Given the description of an element on the screen output the (x, y) to click on. 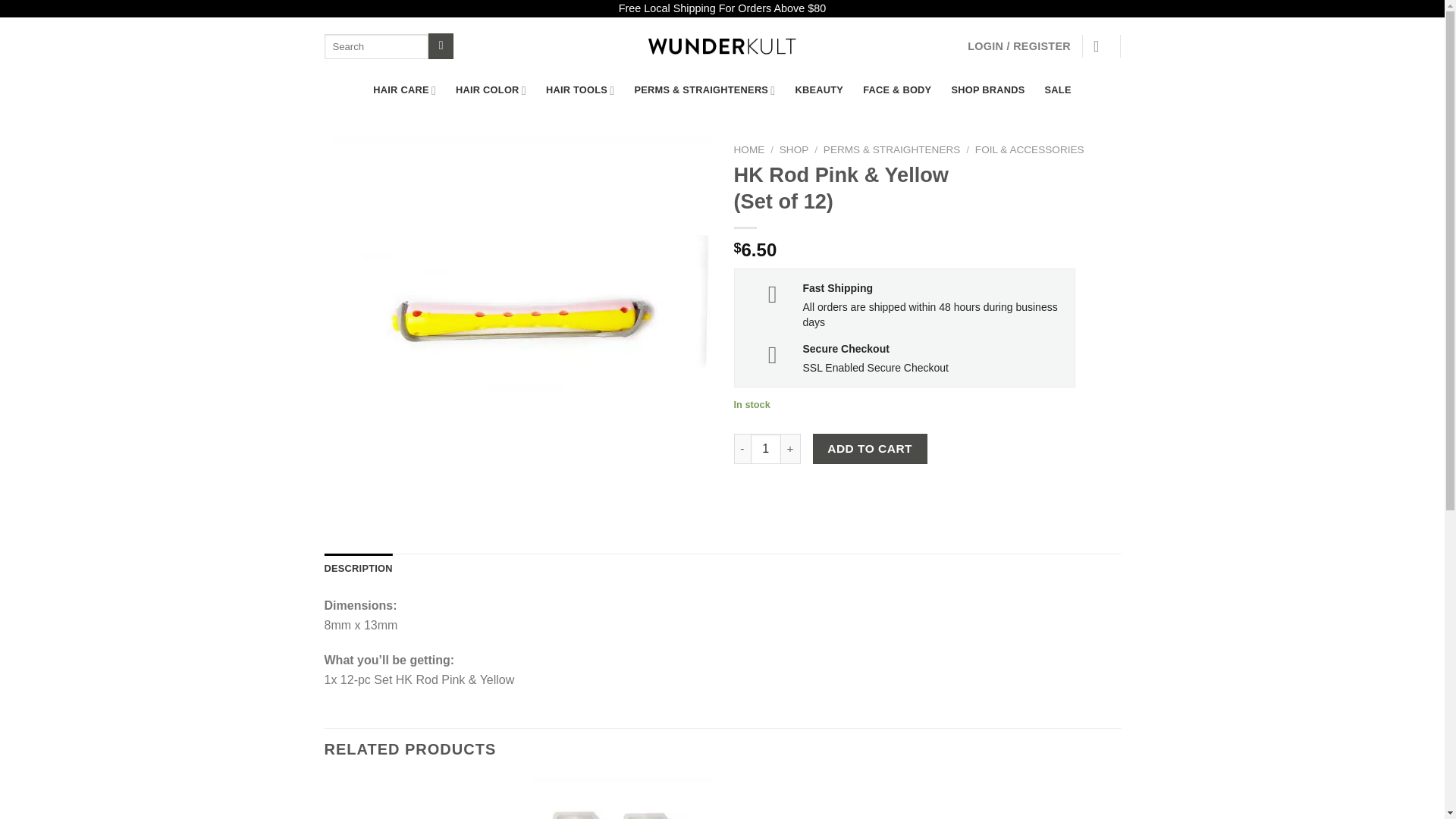
Search (440, 45)
SHOP BRANDS (987, 90)
Login (1019, 46)
1 (765, 449)
HAIR CARE (403, 90)
HOME (749, 149)
HAIR COLOR (490, 90)
KBEAUTY (818, 90)
HAIR TOOLS (580, 90)
